Given the description of an element on the screen output the (x, y) to click on. 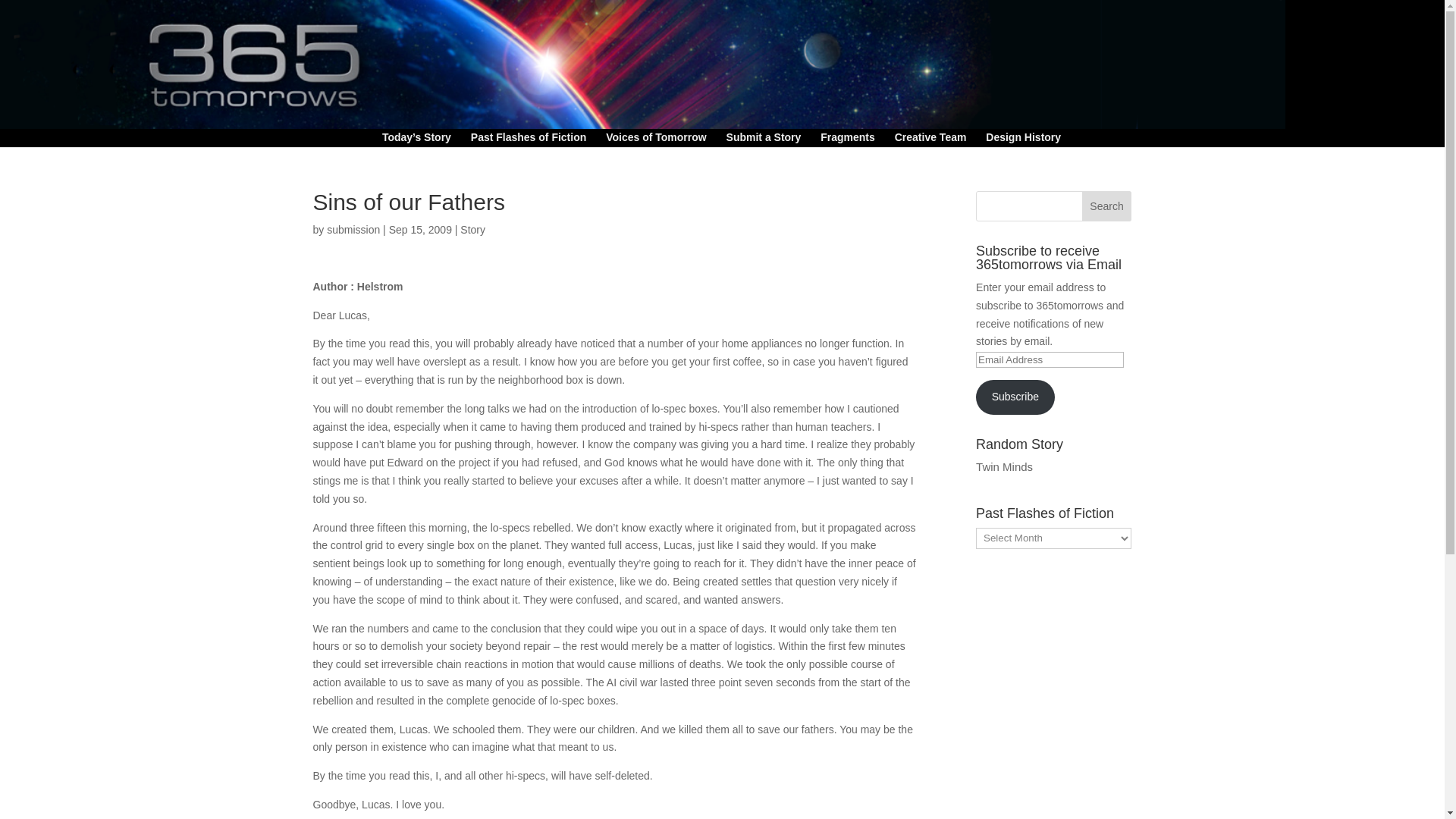
Twin Minds (1003, 466)
Voices of Tomorrow (655, 139)
Submit a Story (764, 139)
Fragments (848, 139)
submission (353, 229)
Creative Team (930, 139)
Subscribe (1014, 397)
Search (1106, 205)
Posts by submission (353, 229)
Past Flashes of Fiction (528, 139)
